Given the description of an element on the screen output the (x, y) to click on. 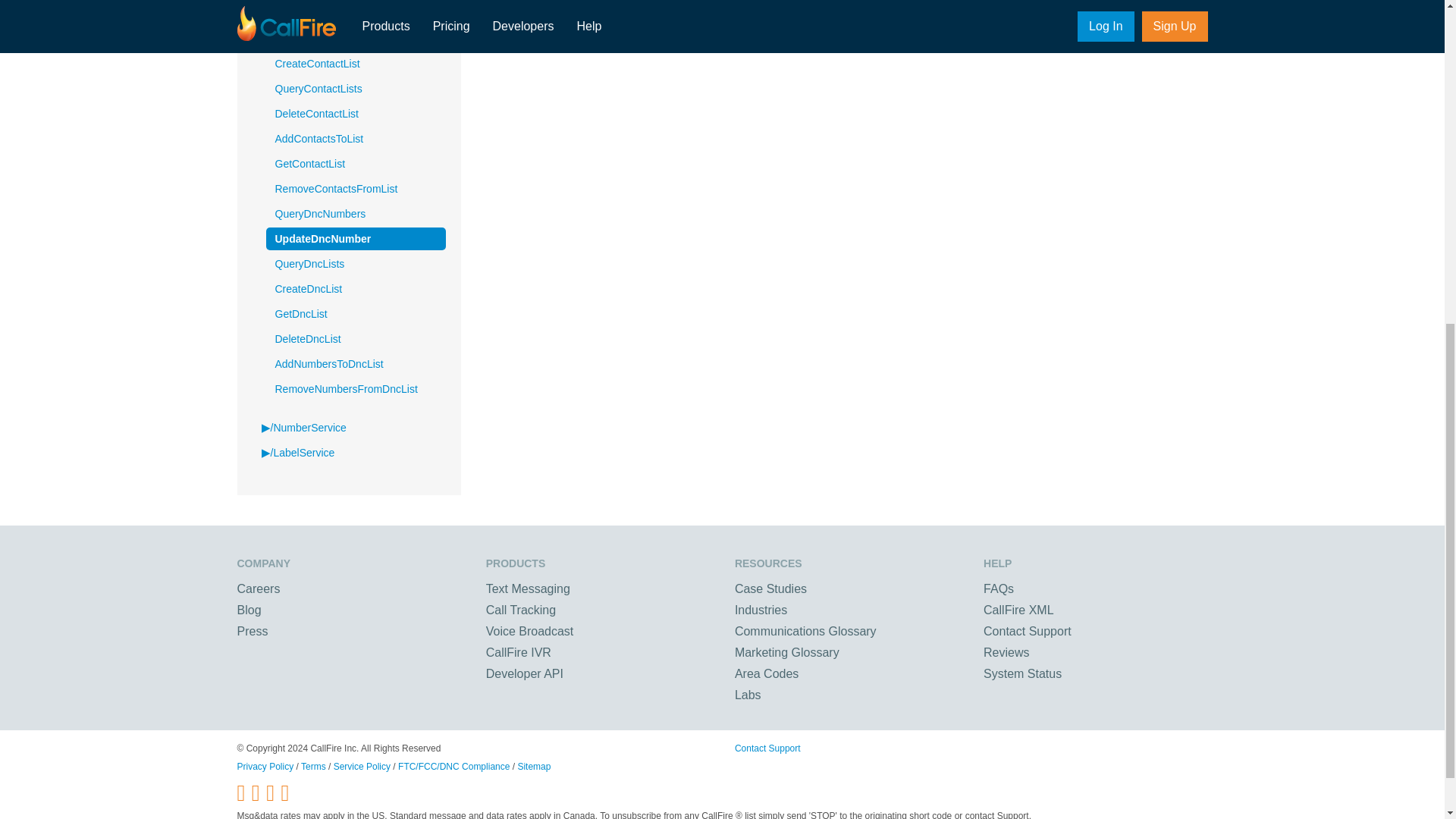
Frequently Asked Questions (998, 587)
